Given the description of an element on the screen output the (x, y) to click on. 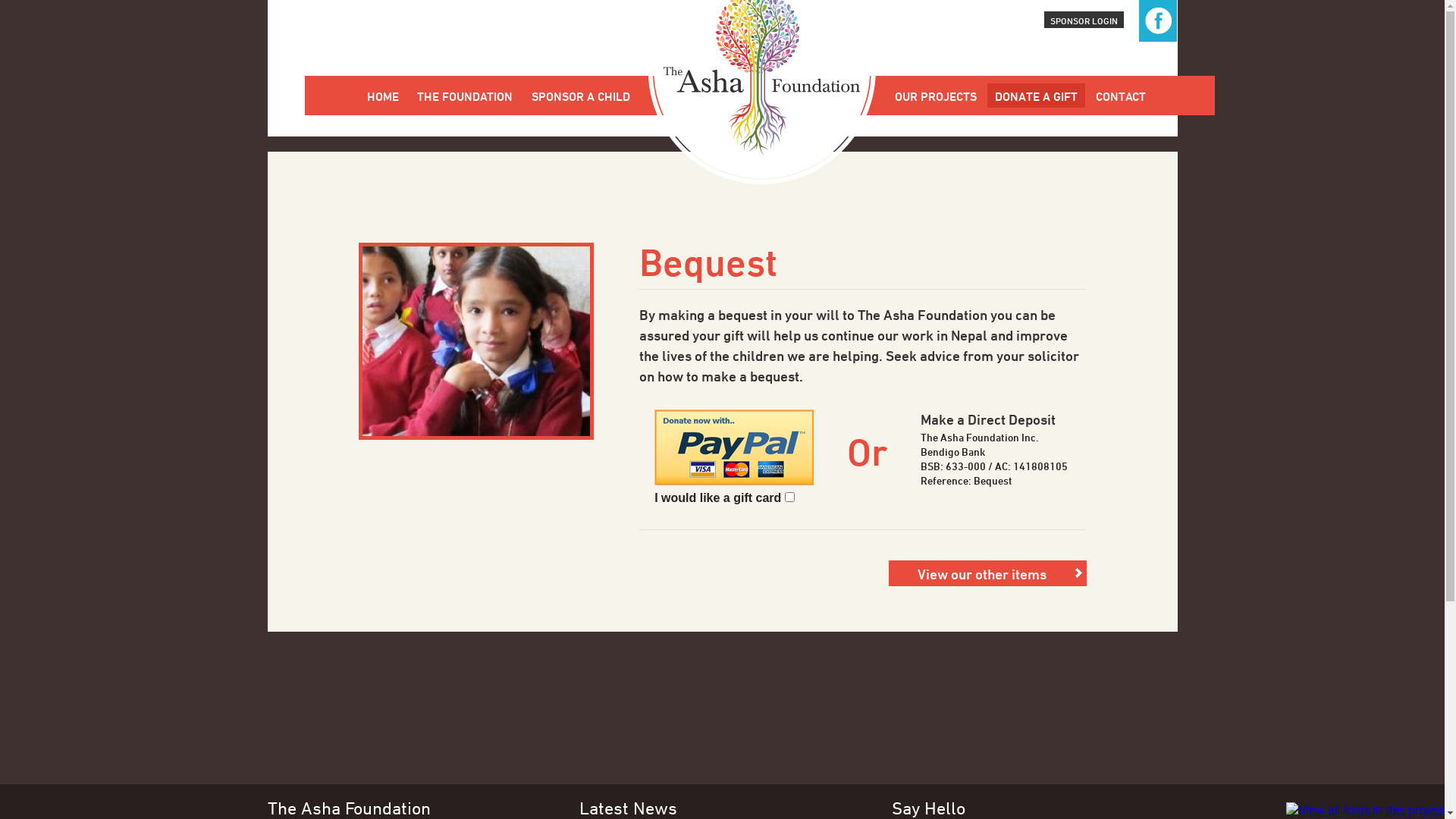
DONATE A GIFT Element type: text (1036, 95)
HOME Element type: text (382, 95)
FIND US ON FACEBOOK Element type: text (1157, 20)
THE FOUNDATION Element type: text (464, 95)
SPONSOR LOGIN Element type: text (1083, 19)
CONTACT Element type: text (1120, 95)
OUR PROJECTS Element type: text (935, 95)
SPONSOR A CHILD Element type: text (580, 95)
View our other items Element type: text (987, 573)
